Given the description of an element on the screen output the (x, y) to click on. 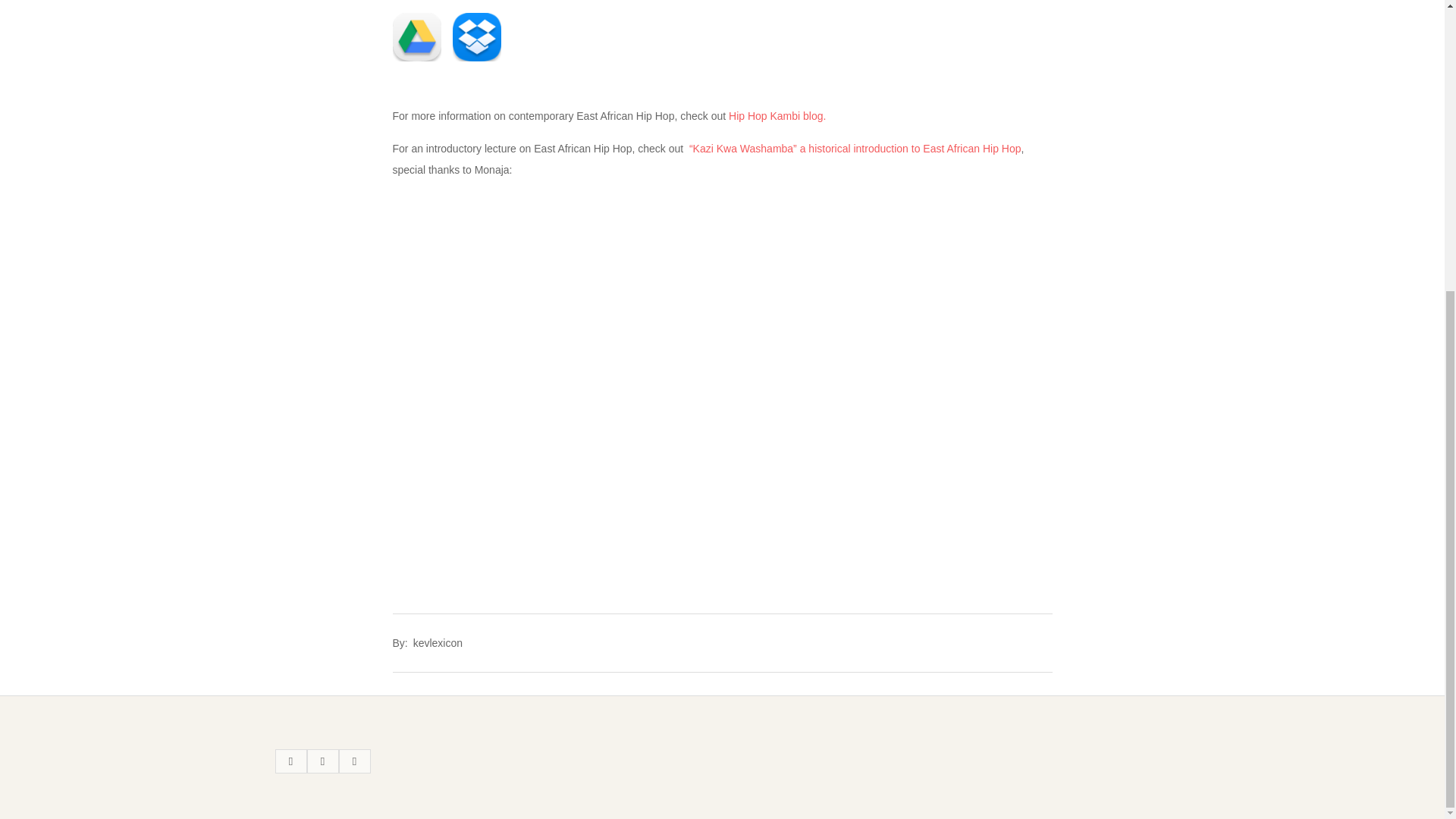
kevlexicon (438, 643)
Posts by kevlexicon (438, 643)
Hip Hop Kambi blog. (777, 115)
